Given the description of an element on the screen output the (x, y) to click on. 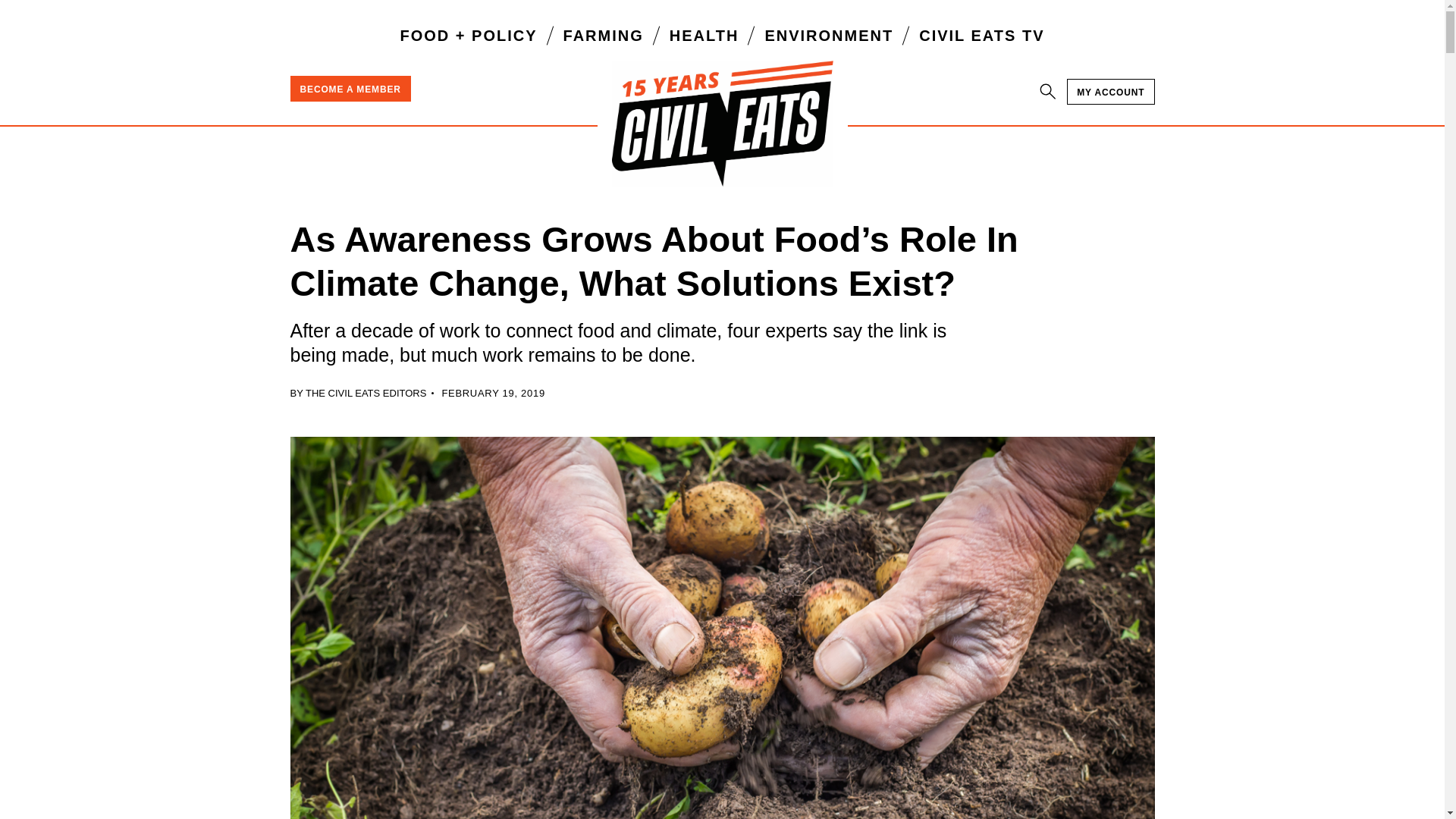
Posts by The Civil Eats Editors (365, 392)
HEALTH (704, 35)
ENVIRONMENT (828, 35)
FARMING (603, 35)
MY ACCOUNT (1110, 91)
BECOME A MEMBER (349, 88)
CIVIL EATS TV (980, 35)
